Given the description of an element on the screen output the (x, y) to click on. 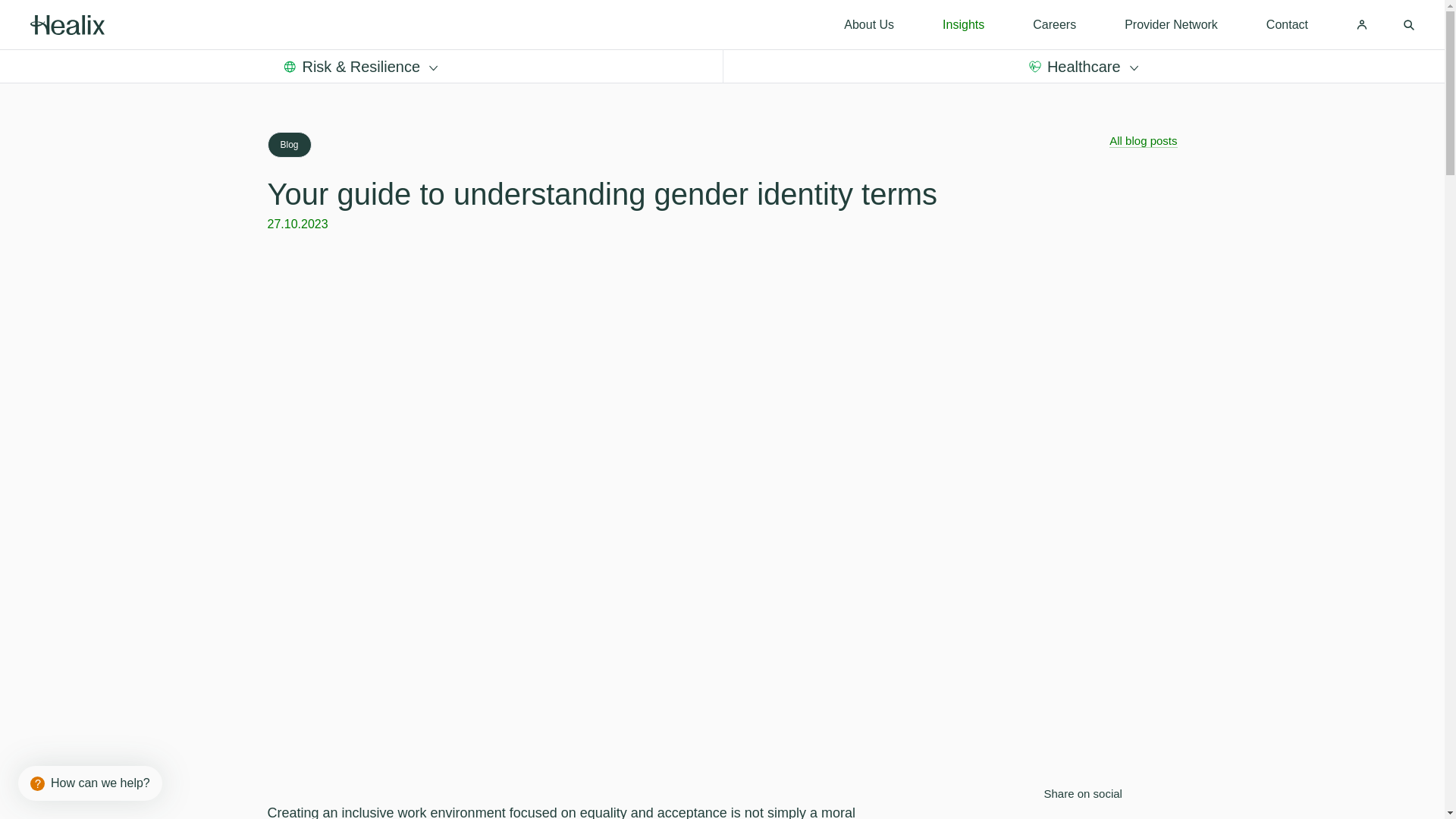
Careers (1053, 24)
Provider Network (1170, 24)
About Us (868, 24)
Contact (1286, 24)
Insights (963, 24)
